Given the description of an element on the screen output the (x, y) to click on. 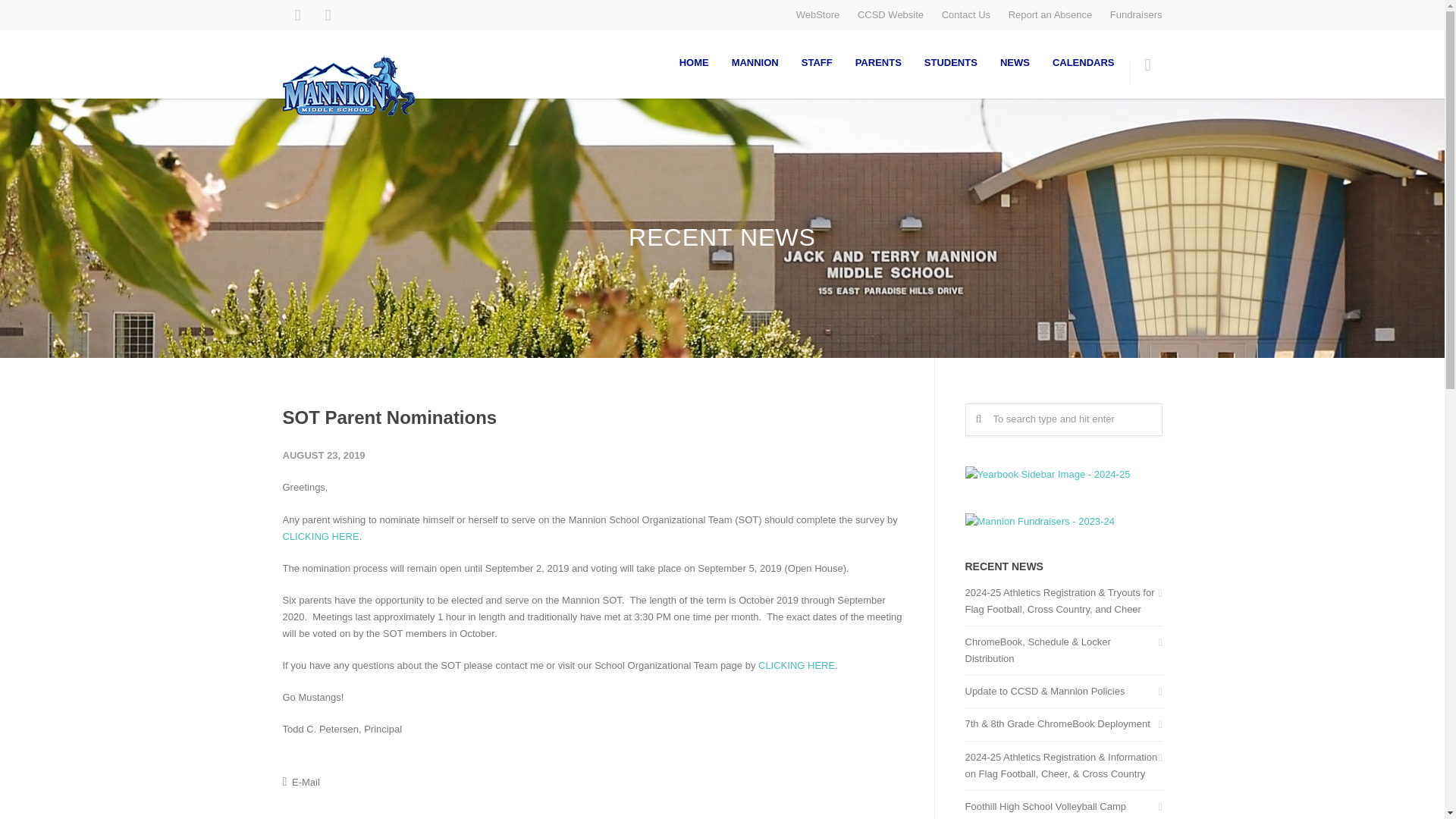
Twitter (327, 15)
Report an Absence (1051, 14)
Contact Us (966, 14)
PARENTS (878, 62)
Fundraisers (1135, 14)
CCSD Website (890, 14)
HOME (694, 62)
Permalink to SOT Parent Nominations (389, 417)
To search type and hit enter (1062, 419)
STUDENTS (950, 62)
